Given the description of an element on the screen output the (x, y) to click on. 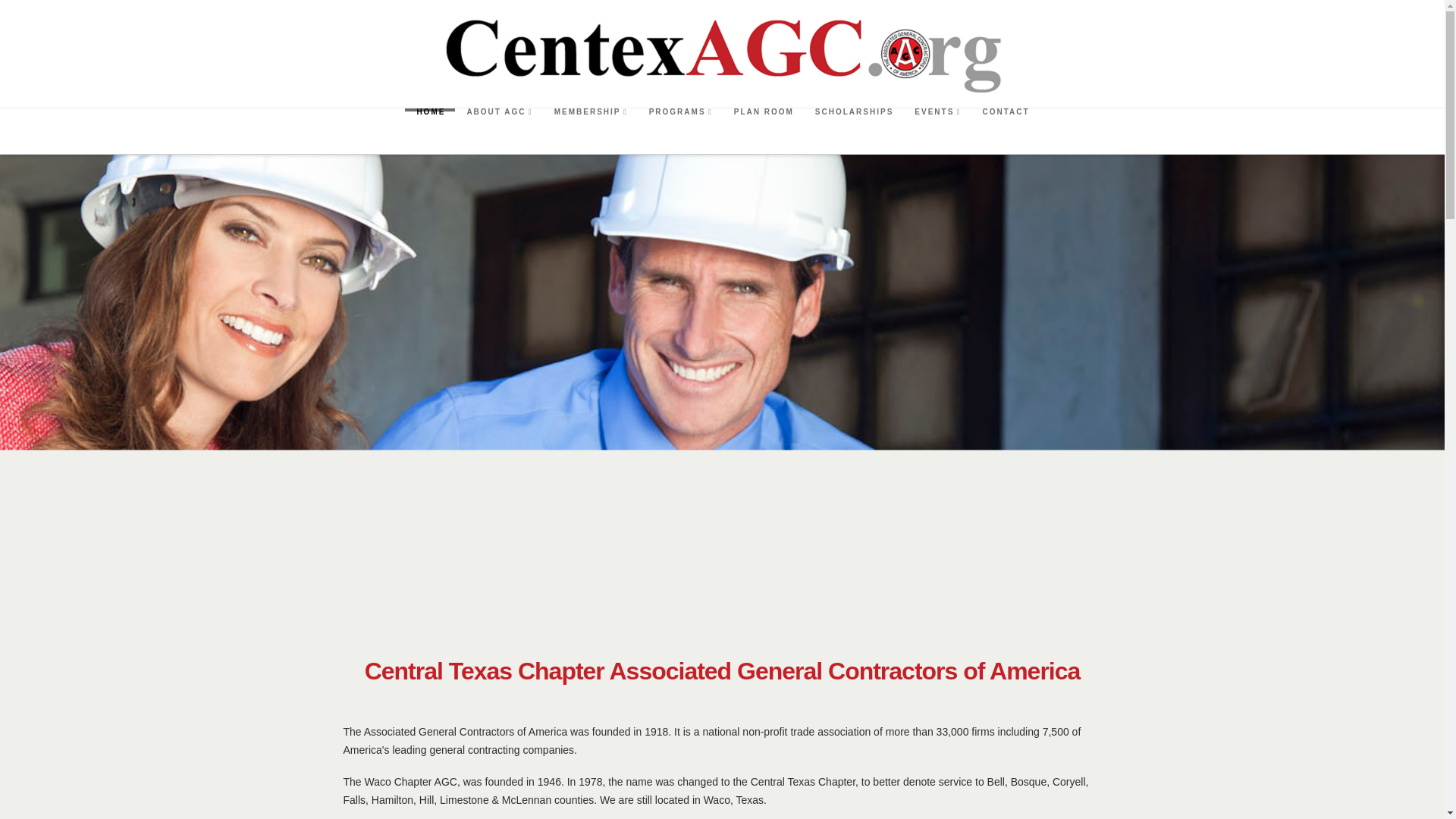
PLAN ROOM (762, 130)
PROGRAMS (679, 130)
MEMBERSHIP (590, 130)
EVENTS (936, 130)
ABOUT AGC (497, 130)
CONTACT (1005, 130)
HOME (429, 130)
SCHOLARSHIPS (852, 130)
